Given the description of an element on the screen output the (x, y) to click on. 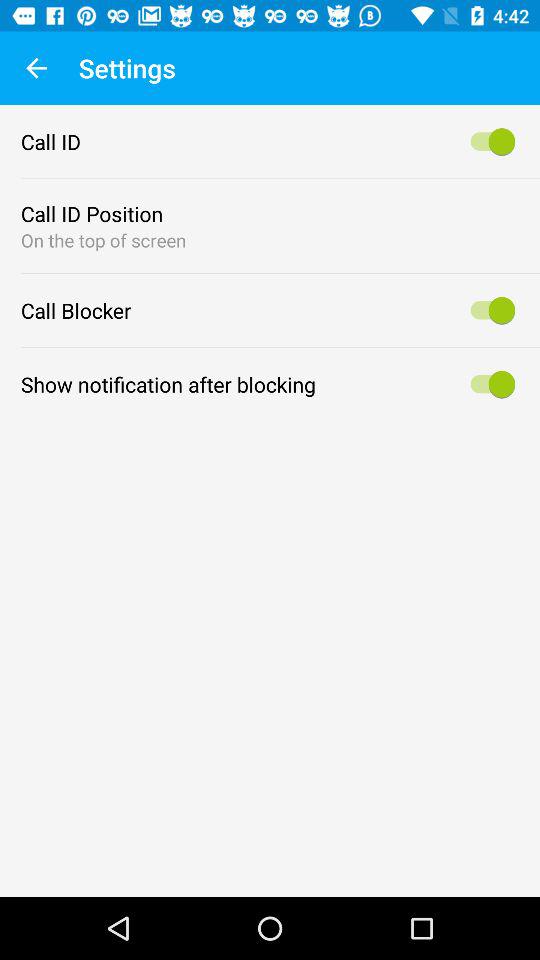
toggle call id (489, 141)
